Given the description of an element on the screen output the (x, y) to click on. 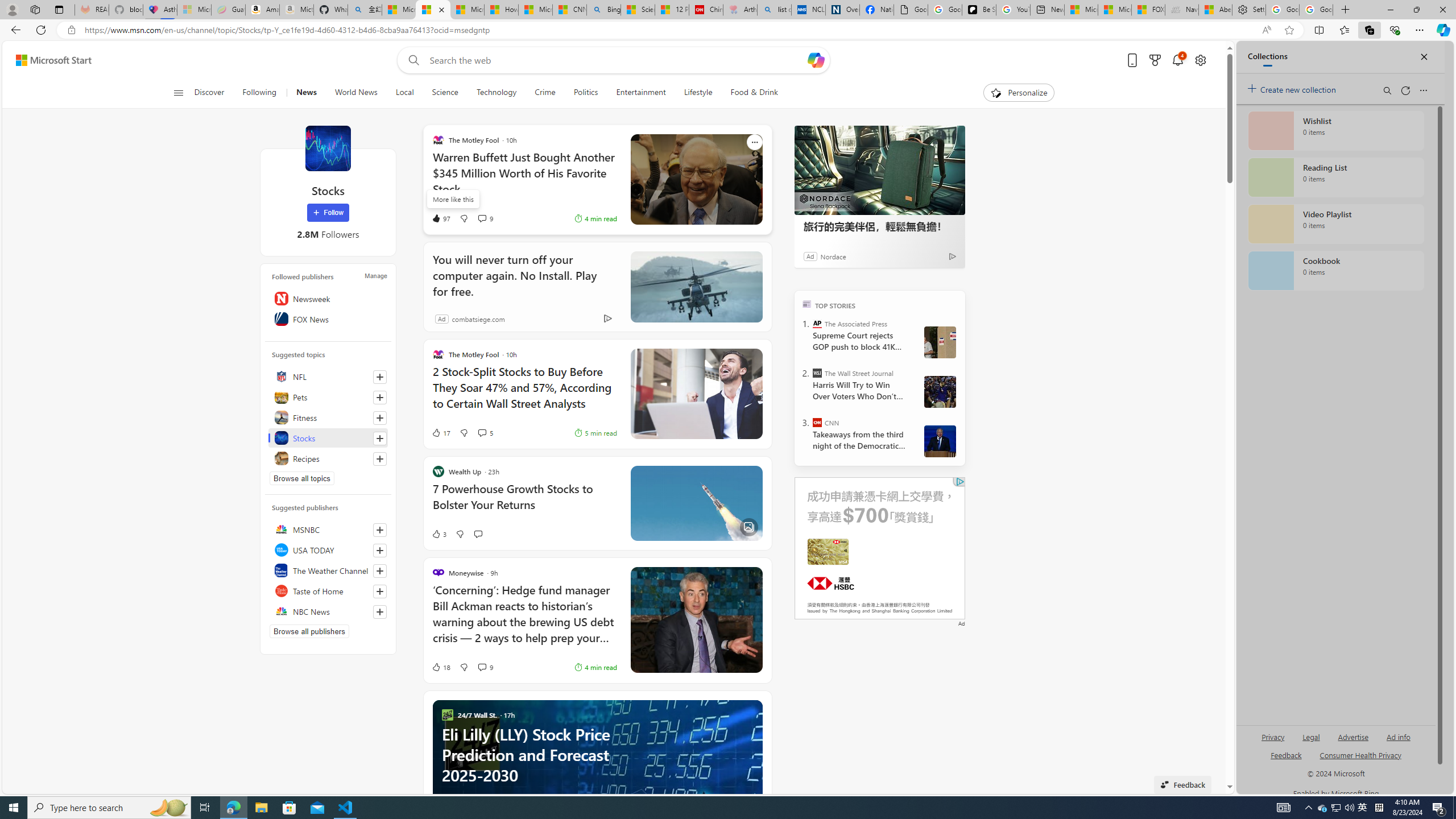
CNN - MSN (569, 9)
97 Like (440, 218)
